Given the description of an element on the screen output the (x, y) to click on. 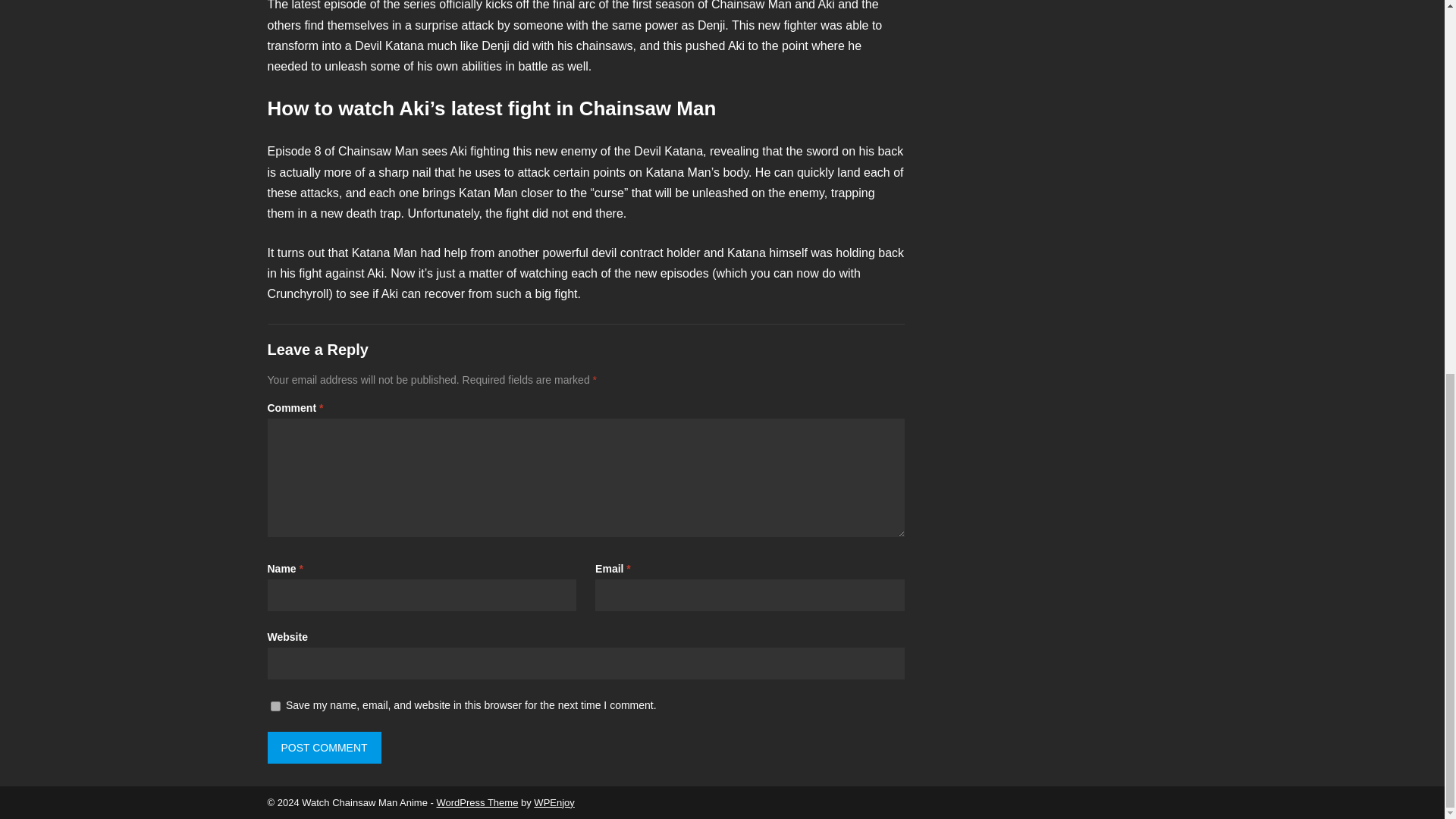
Post Comment (323, 747)
yes (274, 706)
WordPress Theme (476, 802)
Post Comment (323, 747)
WPEnjoy (553, 802)
